Given the description of an element on the screen output the (x, y) to click on. 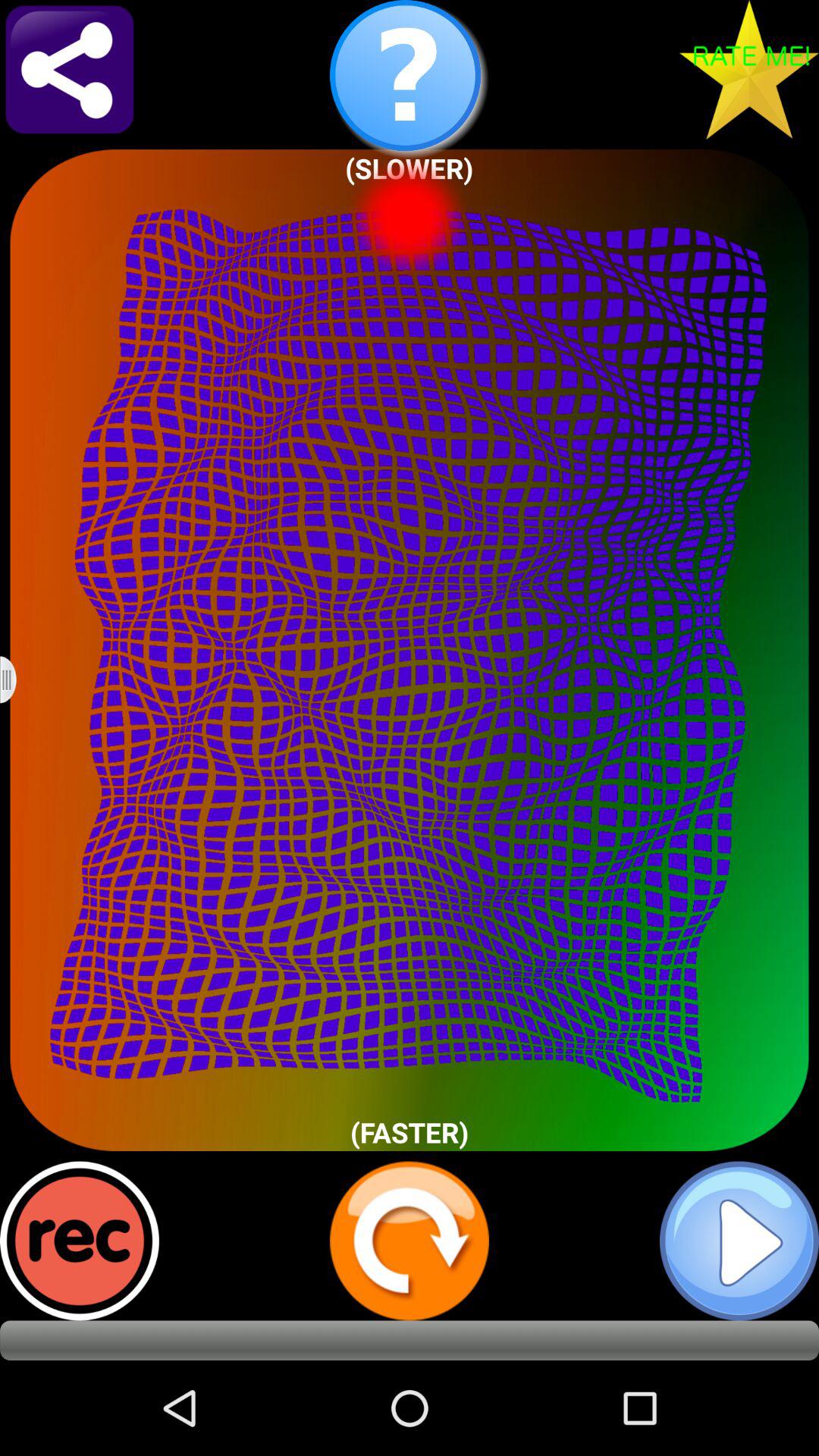
toggle share option (69, 69)
